Given the description of an element on the screen output the (x, y) to click on. 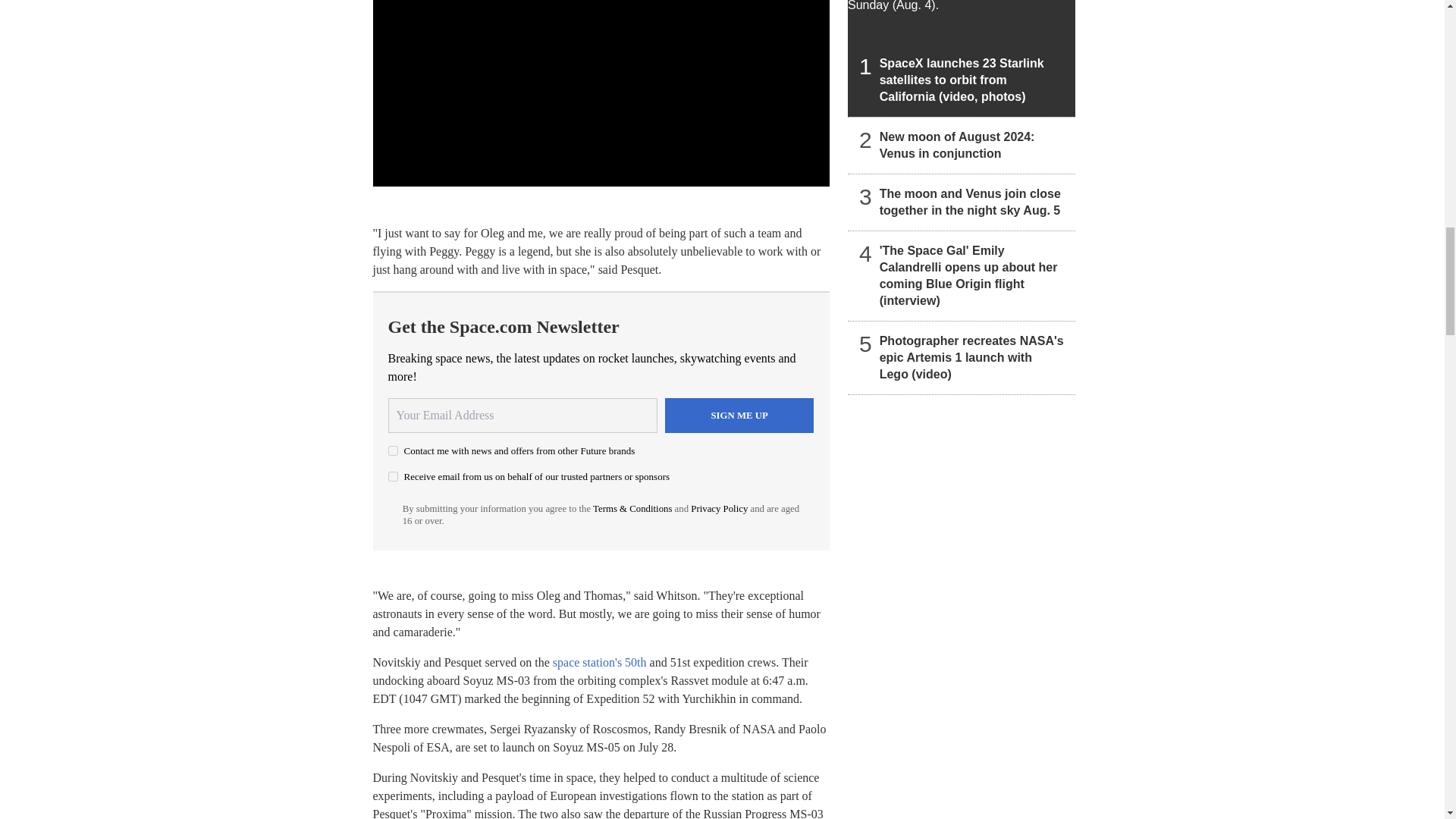
Sign me up (739, 415)
on (392, 476)
on (392, 450)
